Given the description of an element on the screen output the (x, y) to click on. 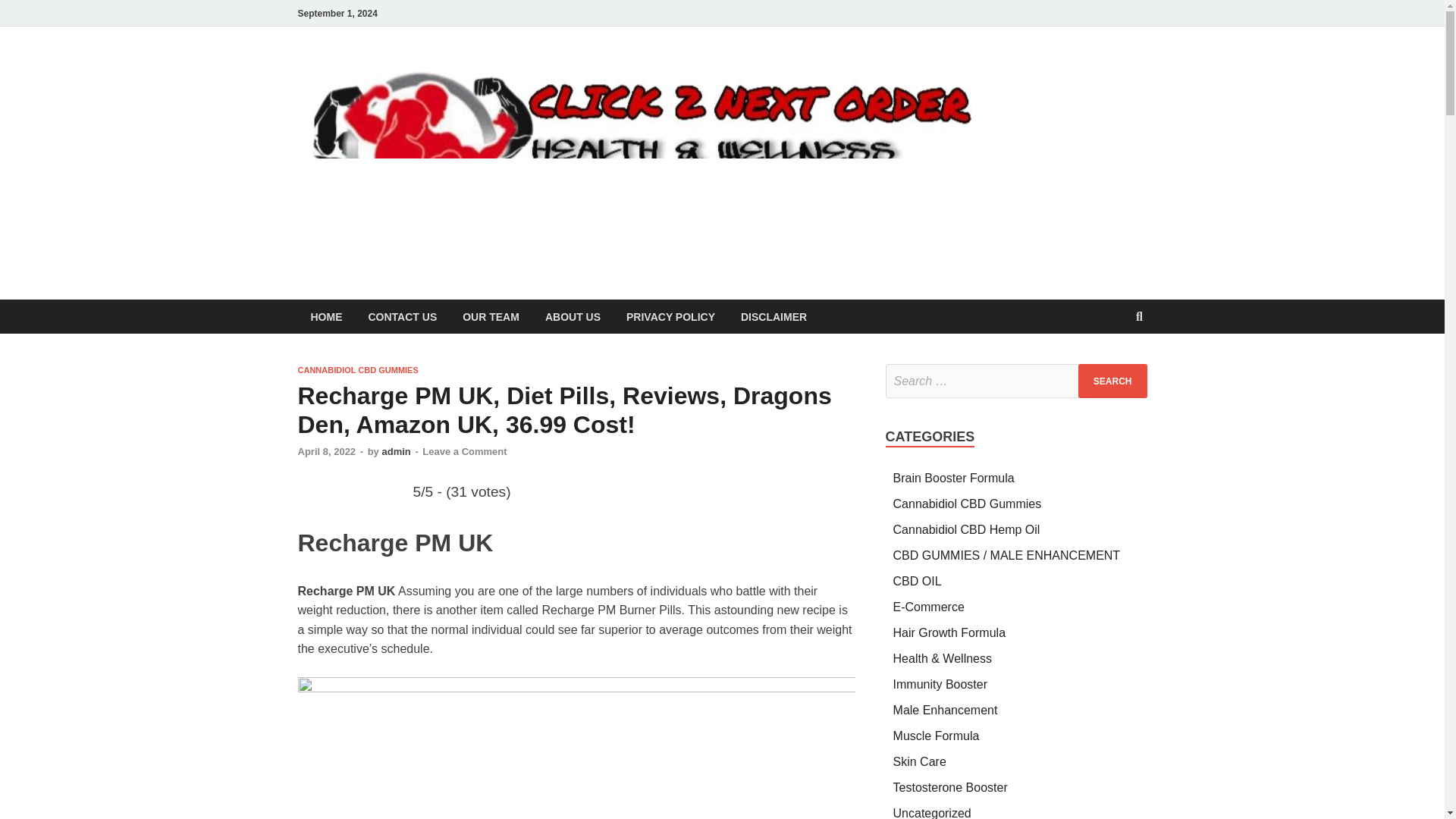
CONTACT US (402, 316)
Brain Booster Formula (953, 477)
ABOUT US (572, 316)
DISCLAIMER (773, 316)
Click 2 Next Order (1085, 95)
CANNABIDIOL CBD GUMMIES (357, 369)
E-Commerce (928, 606)
Leave a Comment (464, 451)
OUR TEAM (490, 316)
CBD OIL (917, 581)
